Given the description of an element on the screen output the (x, y) to click on. 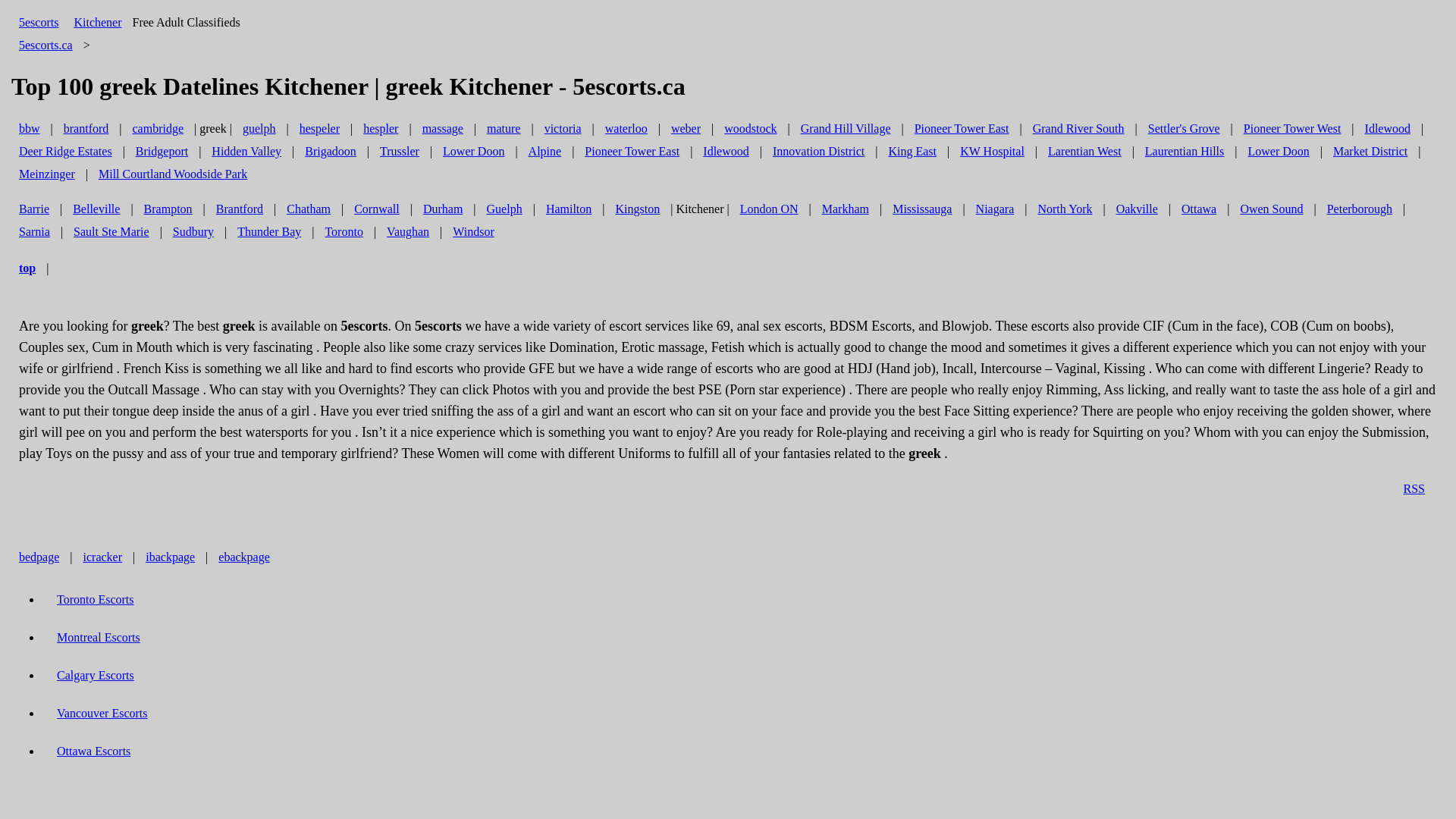
Niagara Element type: text (995, 208)
Sarnia Element type: text (34, 231)
Bridgeport Element type: text (161, 151)
Windsor Element type: text (473, 231)
icracker Element type: text (102, 556)
Oakville Element type: text (1136, 208)
Idlewood Element type: text (1387, 128)
Brantford Element type: text (239, 208)
ebackpage Element type: text (243, 556)
Peterborough Element type: text (1359, 208)
Vaughan Element type: text (407, 231)
Kingston Element type: text (638, 208)
Chatham Element type: text (308, 208)
Brampton Element type: text (168, 208)
Innovation District Element type: text (818, 151)
Mississauga Element type: text (921, 208)
Pioneer Tower West Element type: text (1292, 128)
victoria Element type: text (562, 128)
Idlewood Element type: text (725, 151)
waterloo Element type: text (626, 128)
Lower Doon Element type: text (473, 151)
Kitchener Element type: text (96, 22)
weber Element type: text (685, 128)
Grand River South Element type: text (1078, 128)
guelph Element type: text (259, 128)
Durham Element type: text (442, 208)
ibackpage Element type: text (170, 556)
Belleville Element type: text (96, 208)
woodstock Element type: text (750, 128)
Meinzinger Element type: text (46, 174)
Pioneer Tower East Element type: text (961, 128)
bbw Element type: text (29, 128)
bedpage Element type: text (38, 556)
Market District Element type: text (1370, 151)
Ottawa Escorts Element type: text (93, 751)
massage Element type: text (442, 128)
Thunder Bay Element type: text (268, 231)
5escorts Element type: text (38, 22)
mature Element type: text (503, 128)
Hidden Valley Element type: text (245, 151)
Markham Element type: text (845, 208)
Trussler Element type: text (399, 151)
5escorts.ca Element type: text (45, 45)
Montreal Escorts Element type: text (98, 637)
Mill Courtland Woodside Park Element type: text (172, 174)
Ottawa Element type: text (1198, 208)
Hamilton Element type: text (568, 208)
Larentian West Element type: text (1084, 151)
Cornwall Element type: text (376, 208)
Alpine Element type: text (544, 151)
London ON Element type: text (769, 208)
brantford Element type: text (86, 128)
Guelph Element type: text (504, 208)
Brigadoon Element type: text (330, 151)
Settler's Grove Element type: text (1183, 128)
Calgary Escorts Element type: text (95, 675)
Deer Ridge Estates Element type: text (65, 151)
KW Hospital Element type: text (992, 151)
cambridge Element type: text (157, 128)
Lower Doon Element type: text (1277, 151)
King East Element type: text (912, 151)
Vancouver Escorts Element type: text (102, 713)
Sudbury Element type: text (193, 231)
hespeler Element type: text (319, 128)
Owen Sound Element type: text (1271, 208)
Pioneer Tower East Element type: text (632, 151)
hespler Element type: text (380, 128)
RSS Element type: text (1414, 488)
Laurentian Hills Element type: text (1184, 151)
North York Element type: text (1064, 208)
Barrie Element type: text (33, 208)
Toronto Element type: text (343, 231)
Grand Hill Village Element type: text (845, 128)
Sault Ste Marie Element type: text (110, 231)
Toronto Escorts Element type: text (95, 599)
top Element type: text (27, 268)
